Given the description of an element on the screen output the (x, y) to click on. 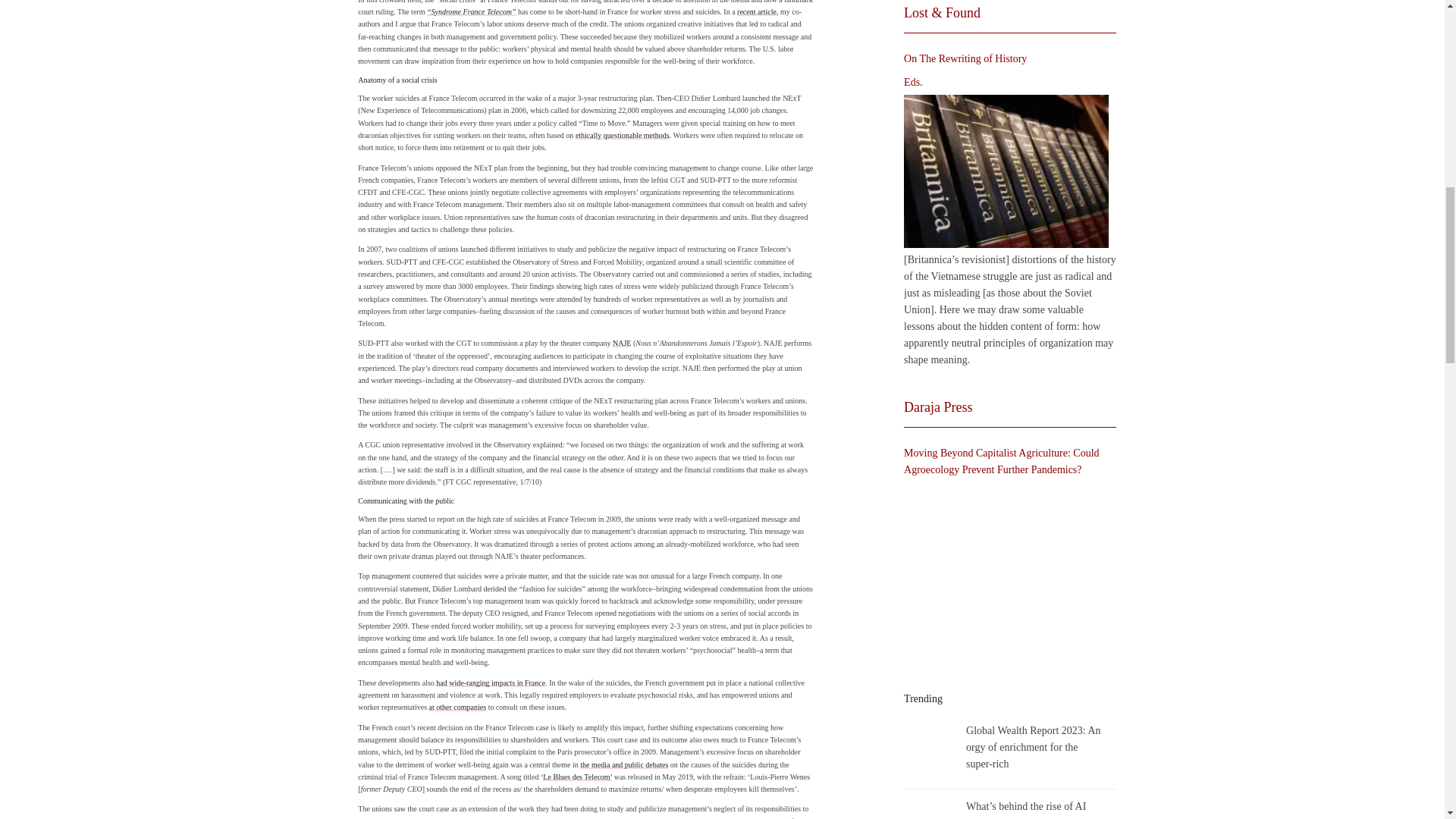
On The Rewriting of History (1006, 171)
Posts by Eds. (913, 82)
